Given the description of an element on the screen output the (x, y) to click on. 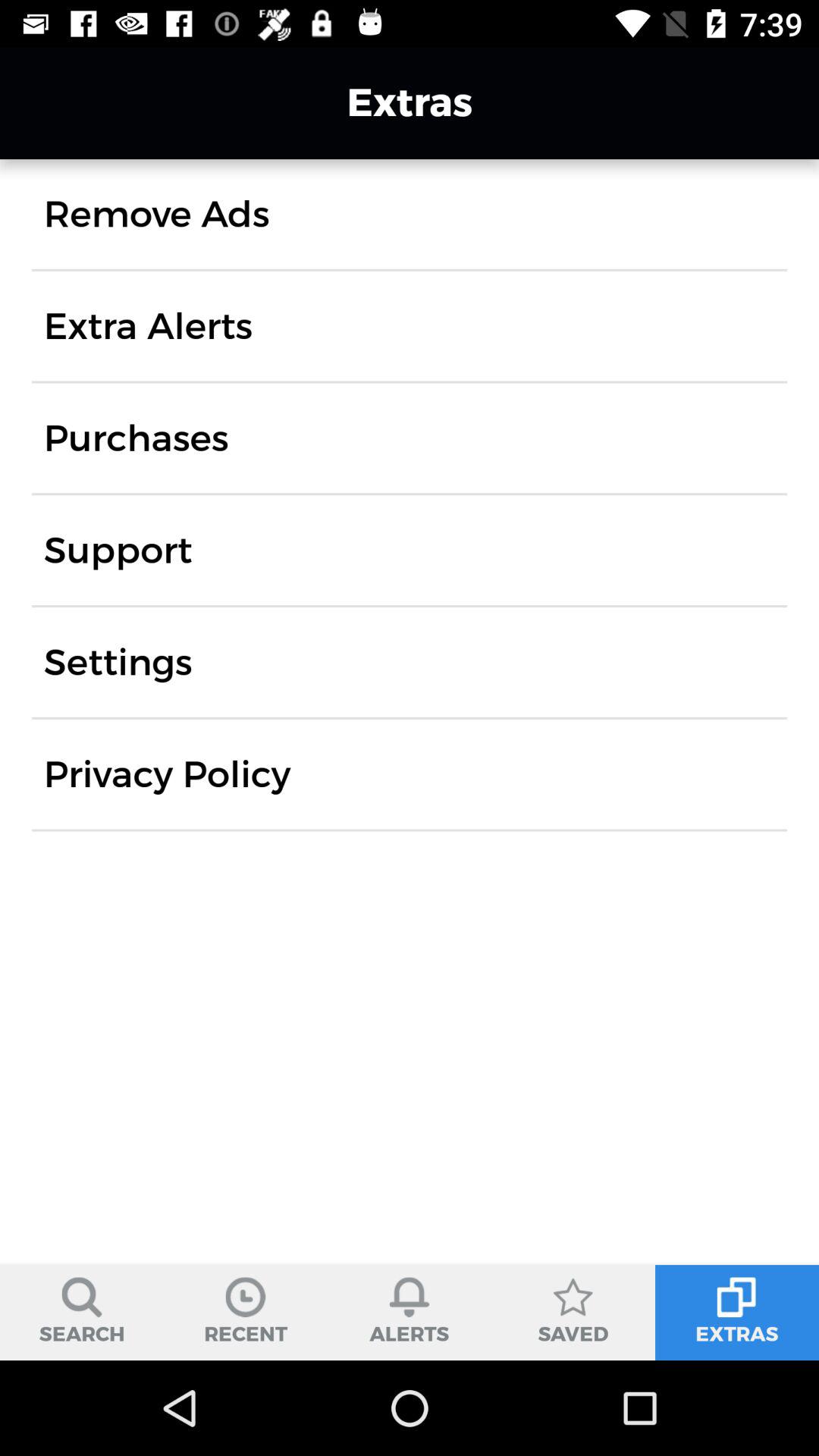
choose icon above the extra alerts (156, 214)
